Given the description of an element on the screen output the (x, y) to click on. 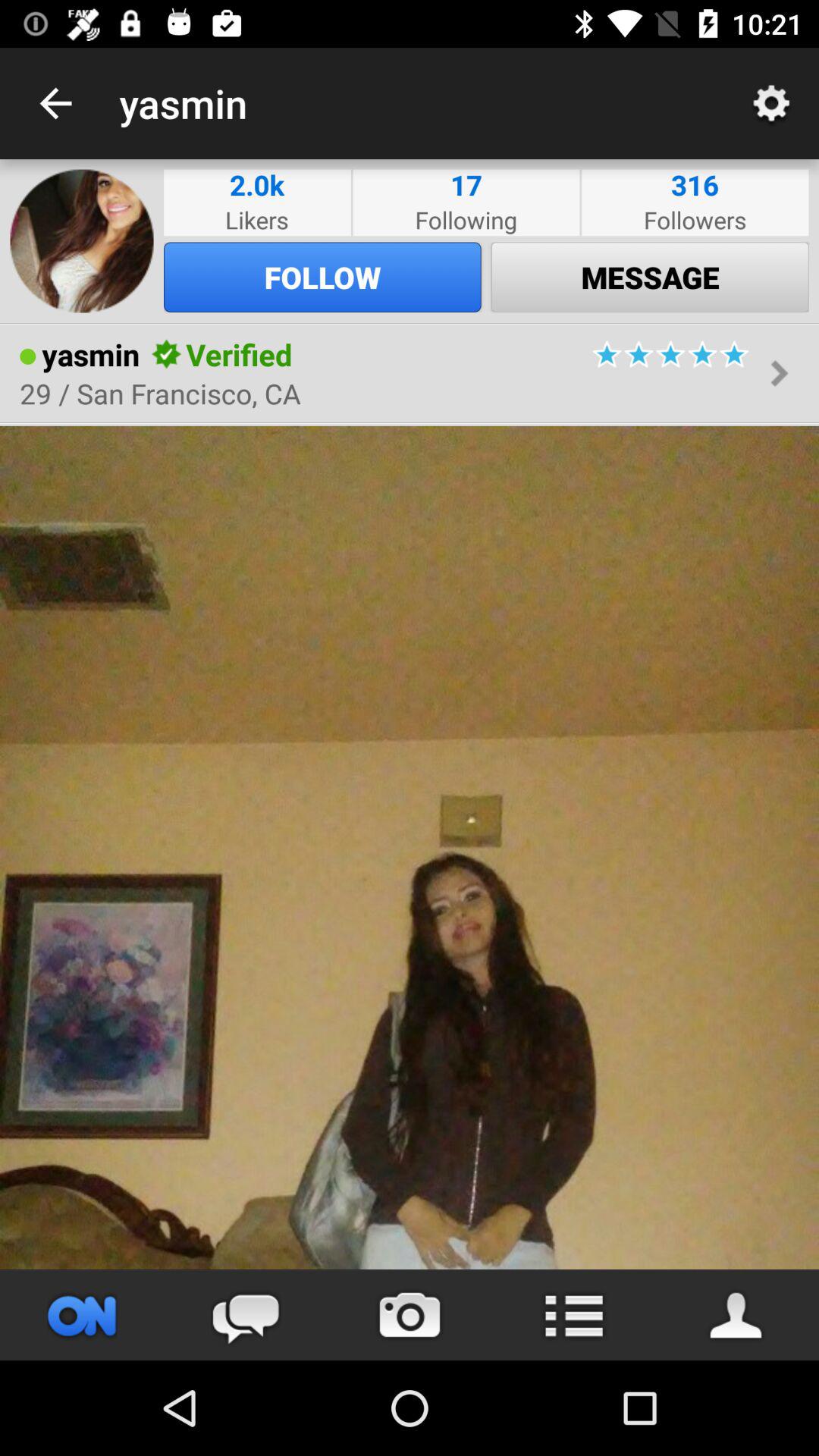
button on (81, 1315)
